Given the description of an element on the screen output the (x, y) to click on. 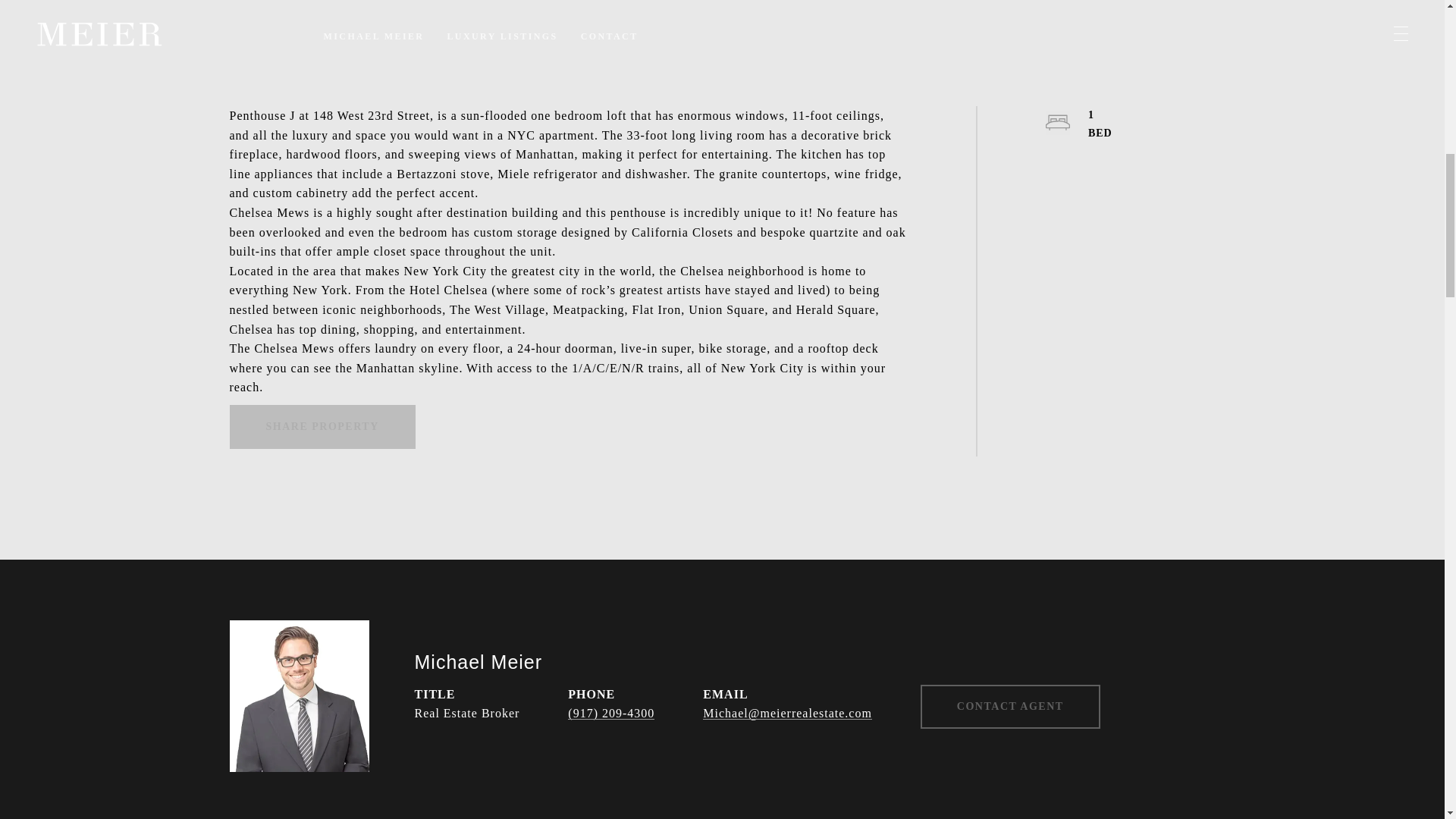
CONTACT AGENT (1010, 706)
SHARE PROPERTY (321, 426)
